Given the description of an element on the screen output the (x, y) to click on. 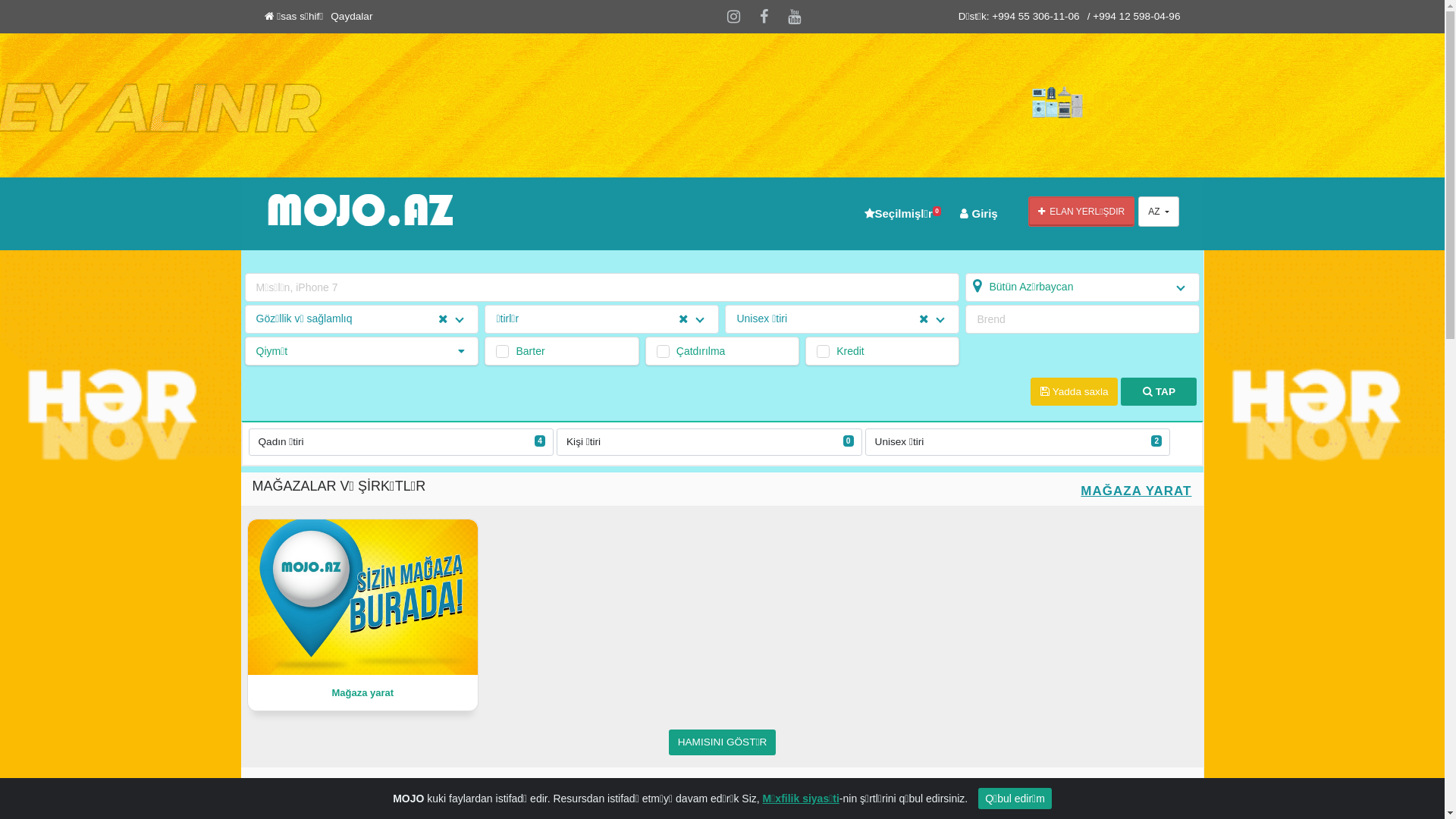
AZ Element type: text (1158, 211)
Qaydalar Element type: text (351, 16)
TAP Element type: text (1158, 391)
/ +994 12 598-04-96 Element type: text (1133, 16)
Yadda saxla Element type: text (1073, 391)
